Given the description of an element on the screen output the (x, y) to click on. 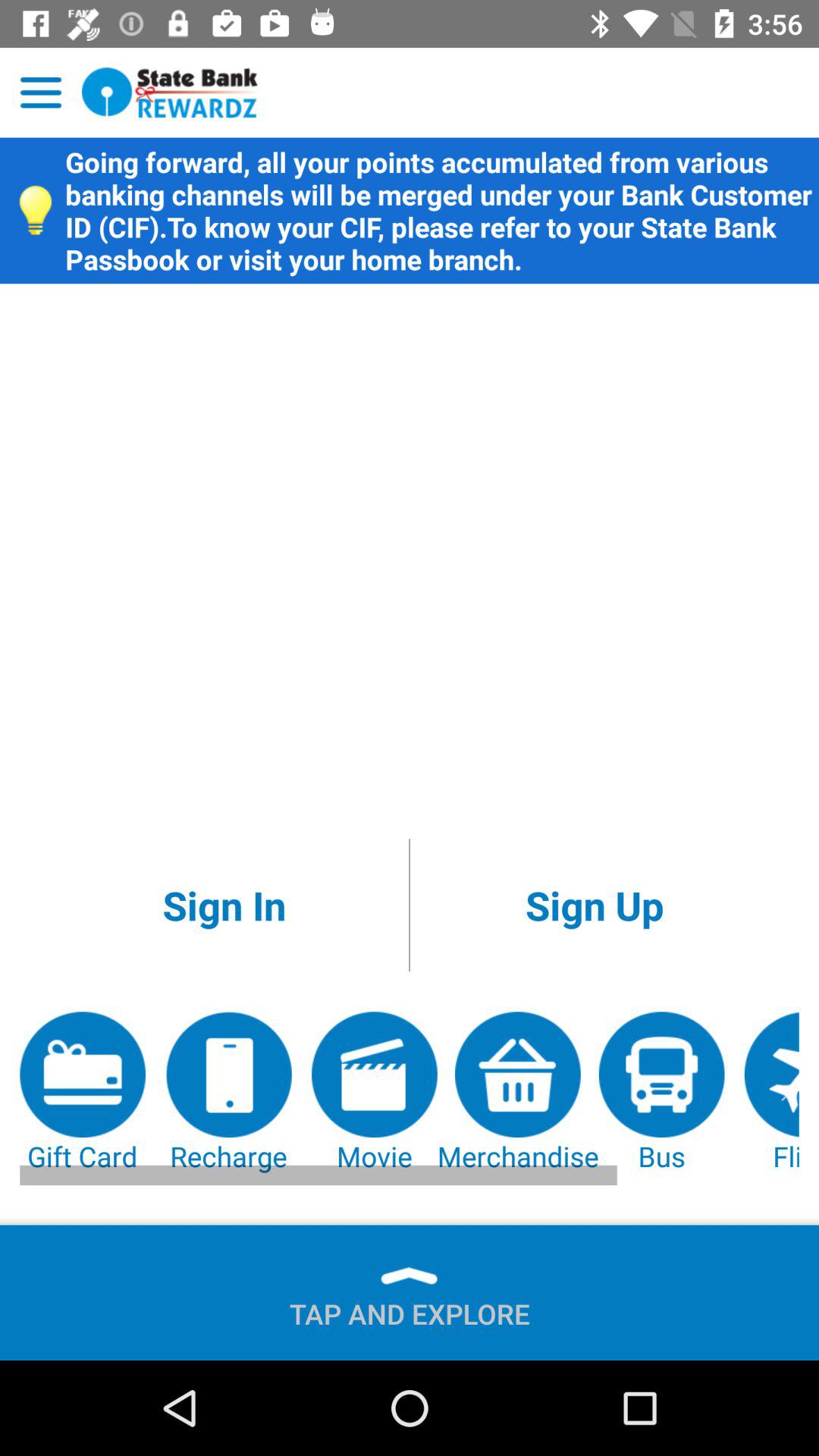
select sign up item (594, 904)
